Given the description of an element on the screen output the (x, y) to click on. 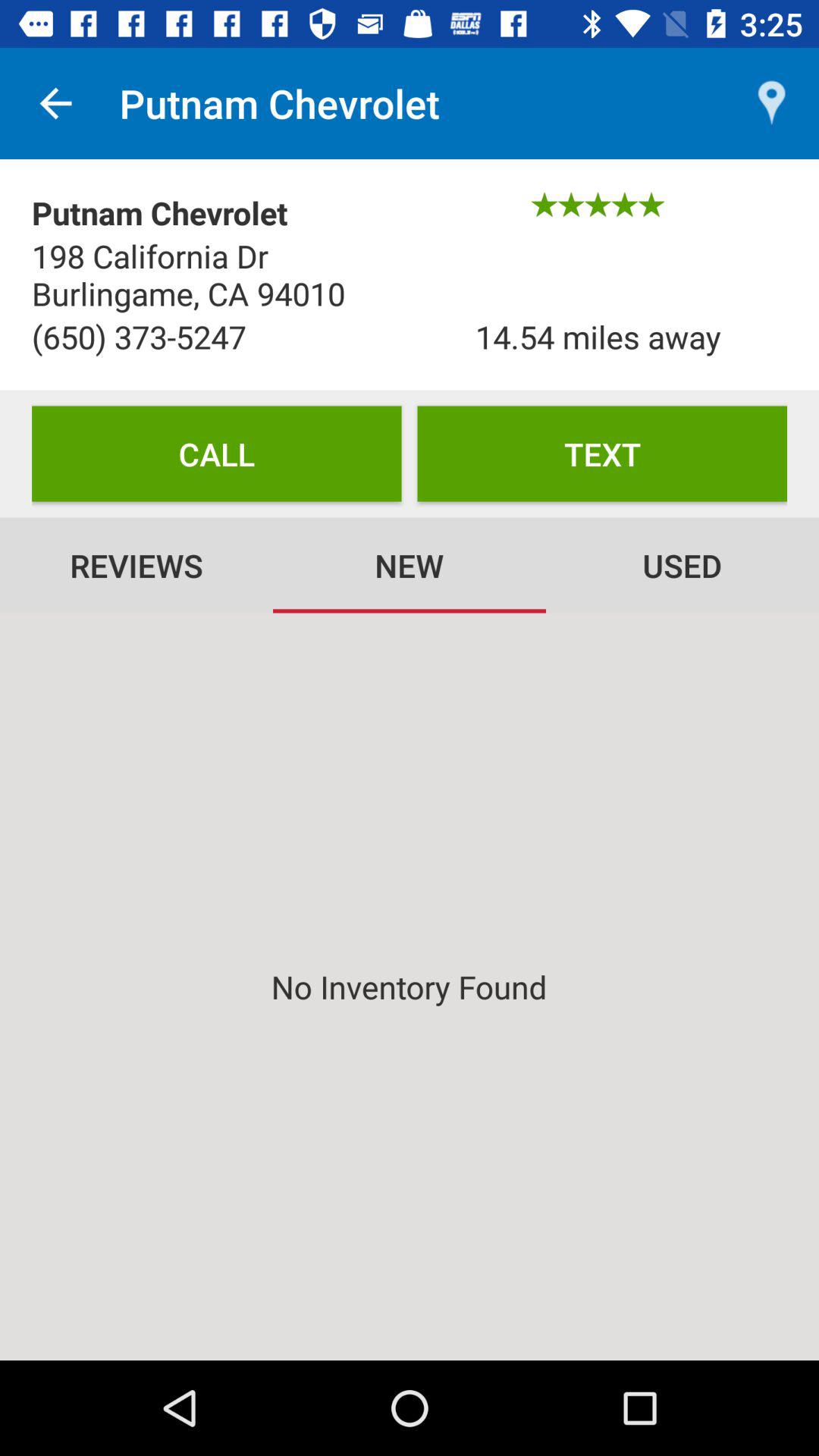
display inventory image (409, 986)
